Given the description of an element on the screen output the (x, y) to click on. 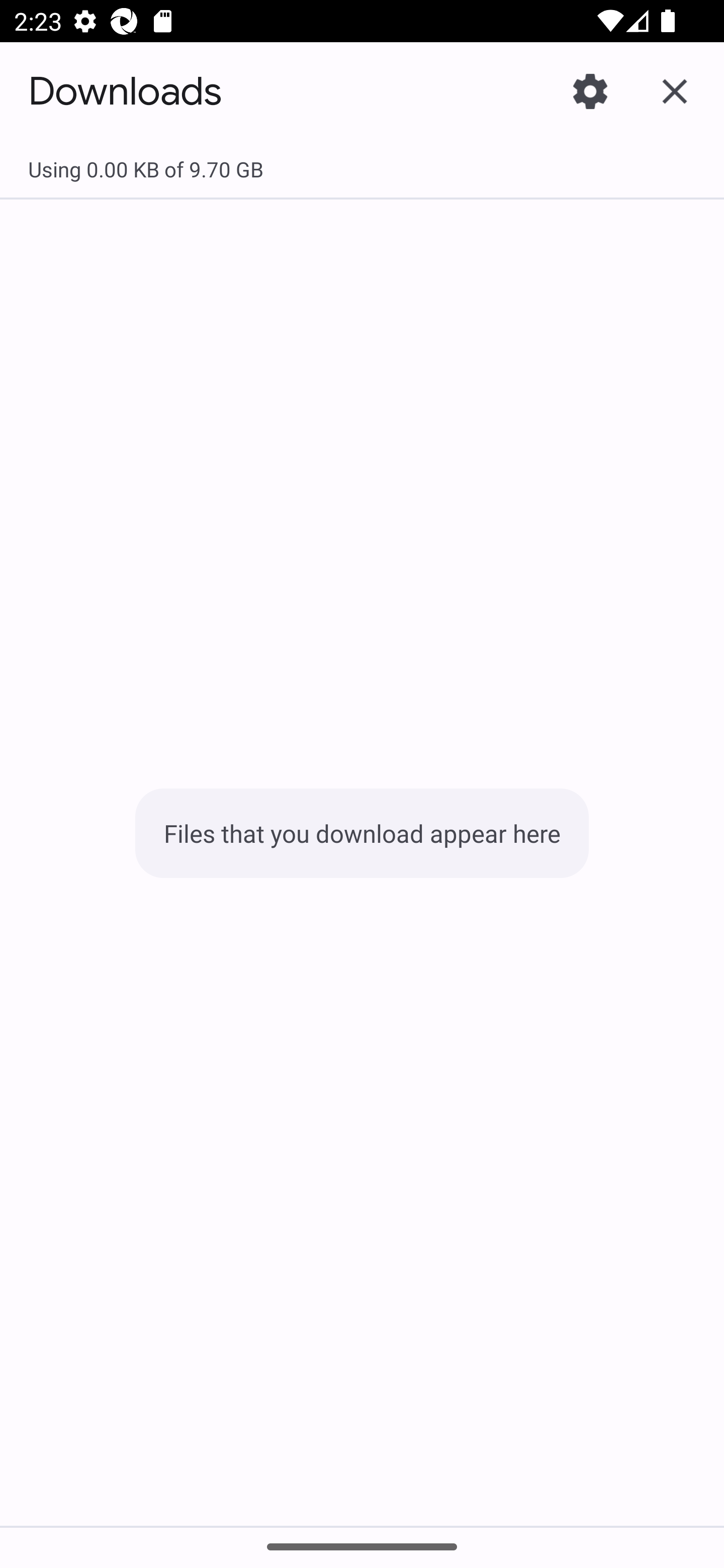
Settings (590, 90)
Close (674, 90)
